Given the description of an element on the screen output the (x, y) to click on. 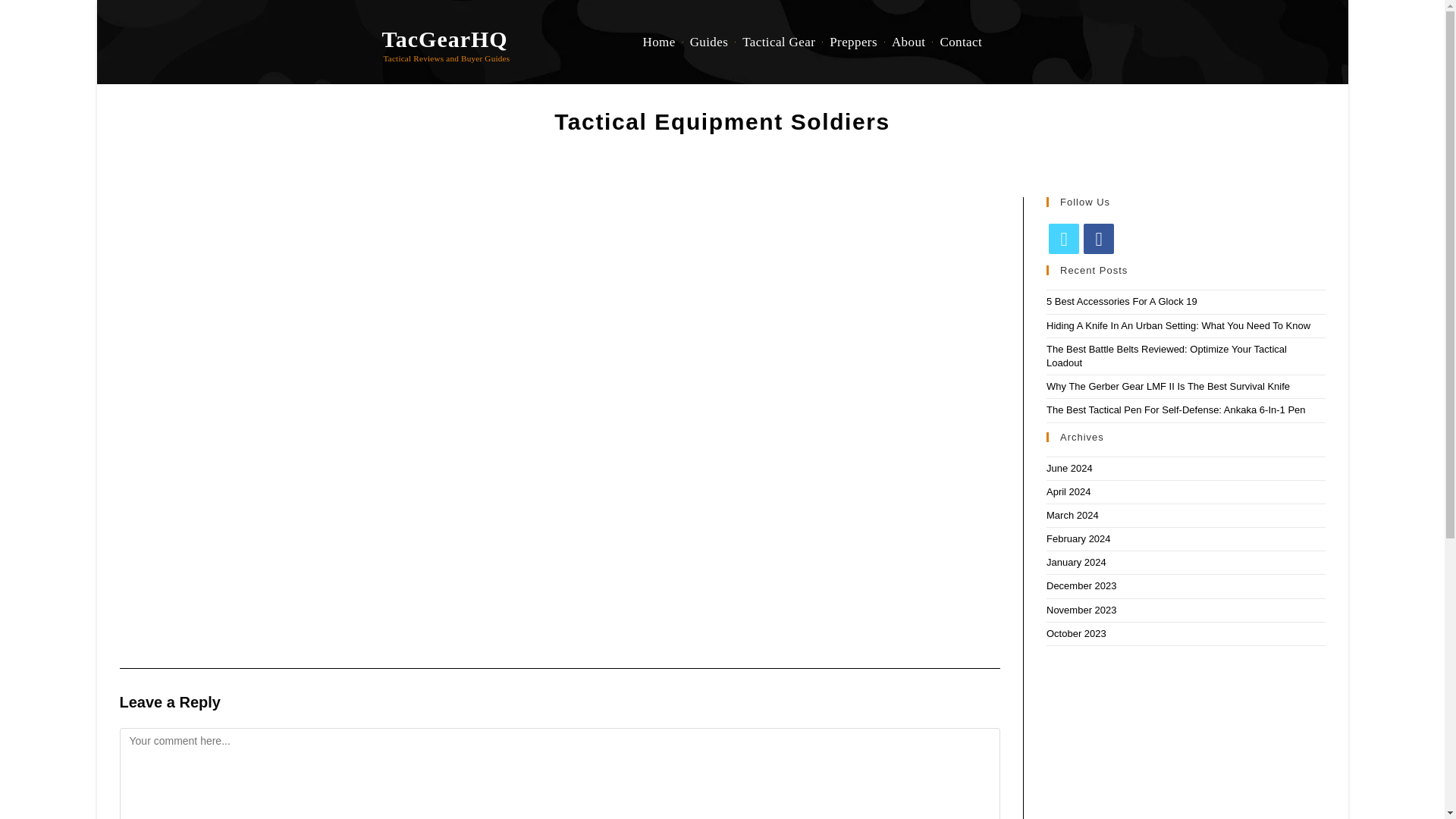
Why The Gerber Gear LMF II Is The Best Survival Knife (1168, 386)
Guides (708, 42)
Contact (960, 42)
Preppers (852, 42)
Home (657, 42)
February 2024 (1078, 538)
March 2024 (1072, 514)
About (909, 42)
October 2023 (1076, 633)
June 2024 (1069, 468)
Hiding A Knife In An Urban Setting: What You Need To Know (1178, 325)
December 2023 (1081, 585)
April 2024 (1068, 491)
5 Best Accessories For A Glock 19 (1121, 301)
